Given the description of an element on the screen output the (x, y) to click on. 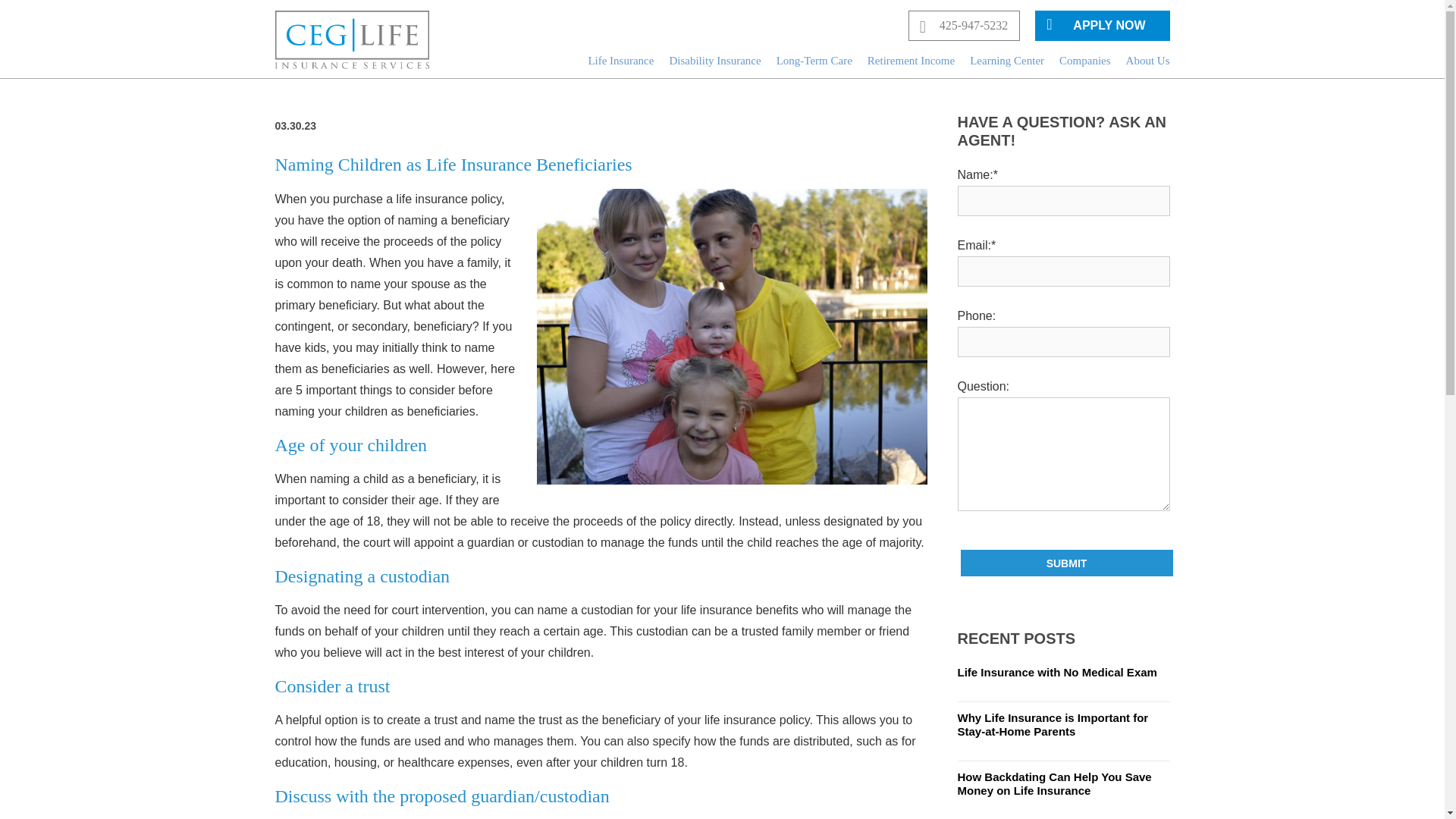
APPLY NOW (1102, 25)
Companies (1084, 64)
Learning Center (1006, 64)
Retirement Income (911, 64)
Submit (1065, 562)
About Us (1147, 64)
Life Insurance (620, 64)
Long-Term Care (813, 64)
Submit (1065, 562)
Why Life Insurance is Important for Stay-at-Home Parents (1062, 730)
Life Insurance with No Medical Exam (1062, 678)
425-947-5232 (964, 25)
How Backdating Can Help You Save Money on Life Insurance (1062, 789)
Disability Insurance (714, 64)
